Given the description of an element on the screen output the (x, y) to click on. 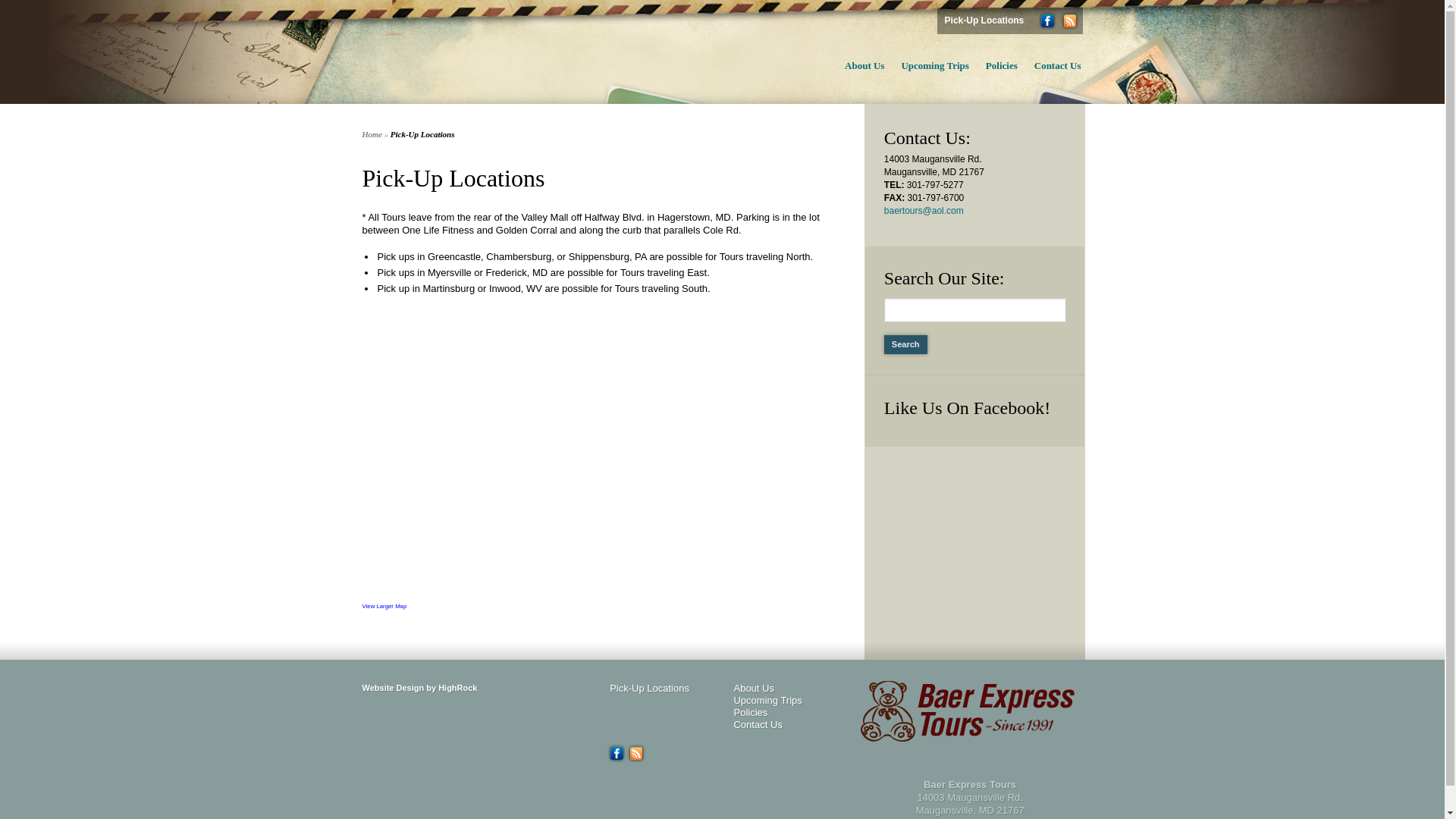
Website Design by HighRock (419, 687)
RSS (1068, 20)
Upcoming Trips (926, 67)
View Larger Map (384, 605)
facebook (1047, 20)
Home (371, 133)
Contact Us (757, 724)
Policies (750, 712)
Contact Us (1050, 67)
Baer Express Tours (475, 52)
